Given the description of an element on the screen output the (x, y) to click on. 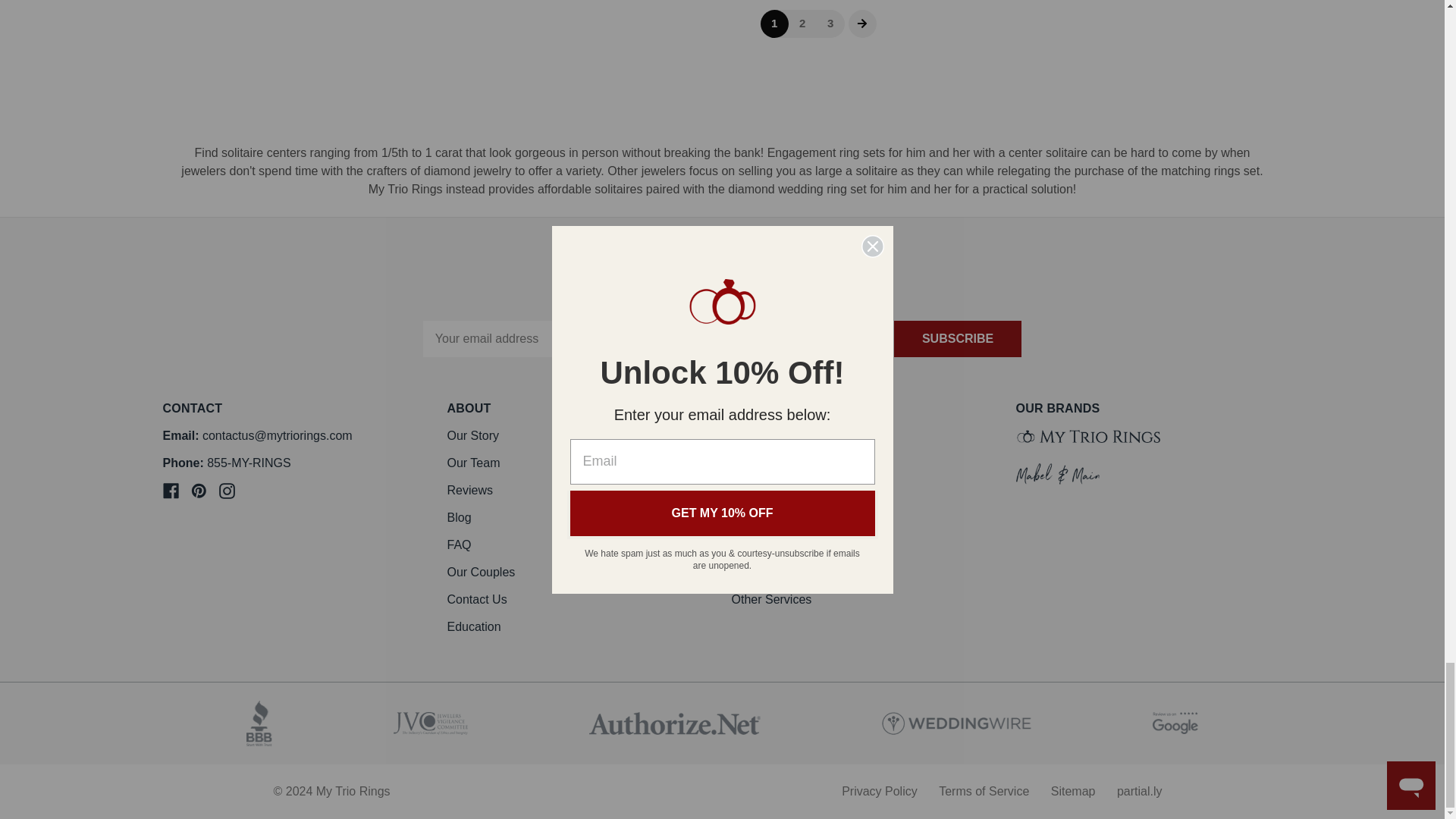
Subscribe (957, 339)
